Given the description of an element on the screen output the (x, y) to click on. 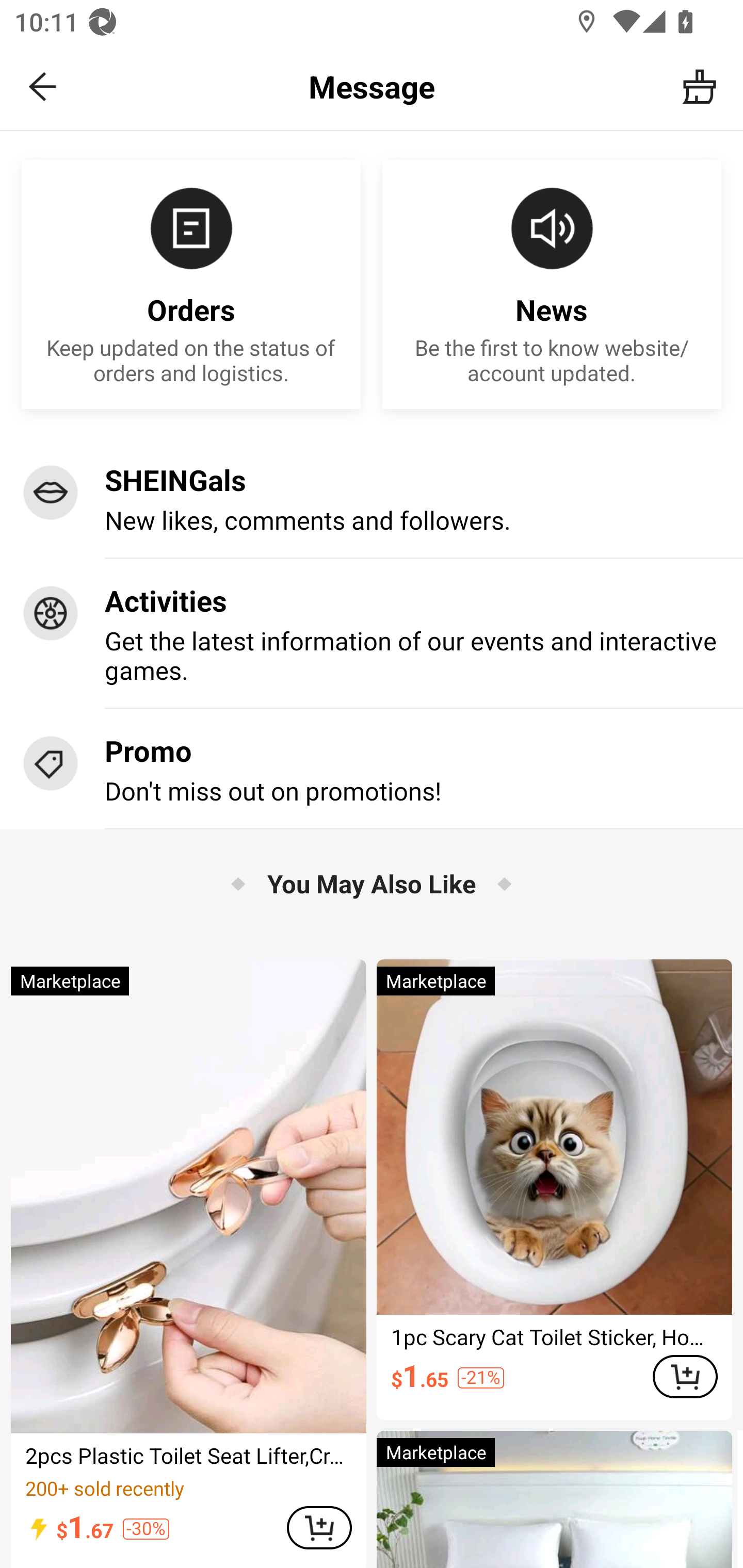
Navigate up (43, 86)
News Be the first to know website/account updated. (551, 284)
SHEINGals New likes, comments and followers. (371, 497)
Promo Don't miss out on promotions! (371, 768)
You May Also Like (371, 883)
ADD TO CART (684, 1376)
ADD TO CART (319, 1527)
